Given the description of an element on the screen output the (x, y) to click on. 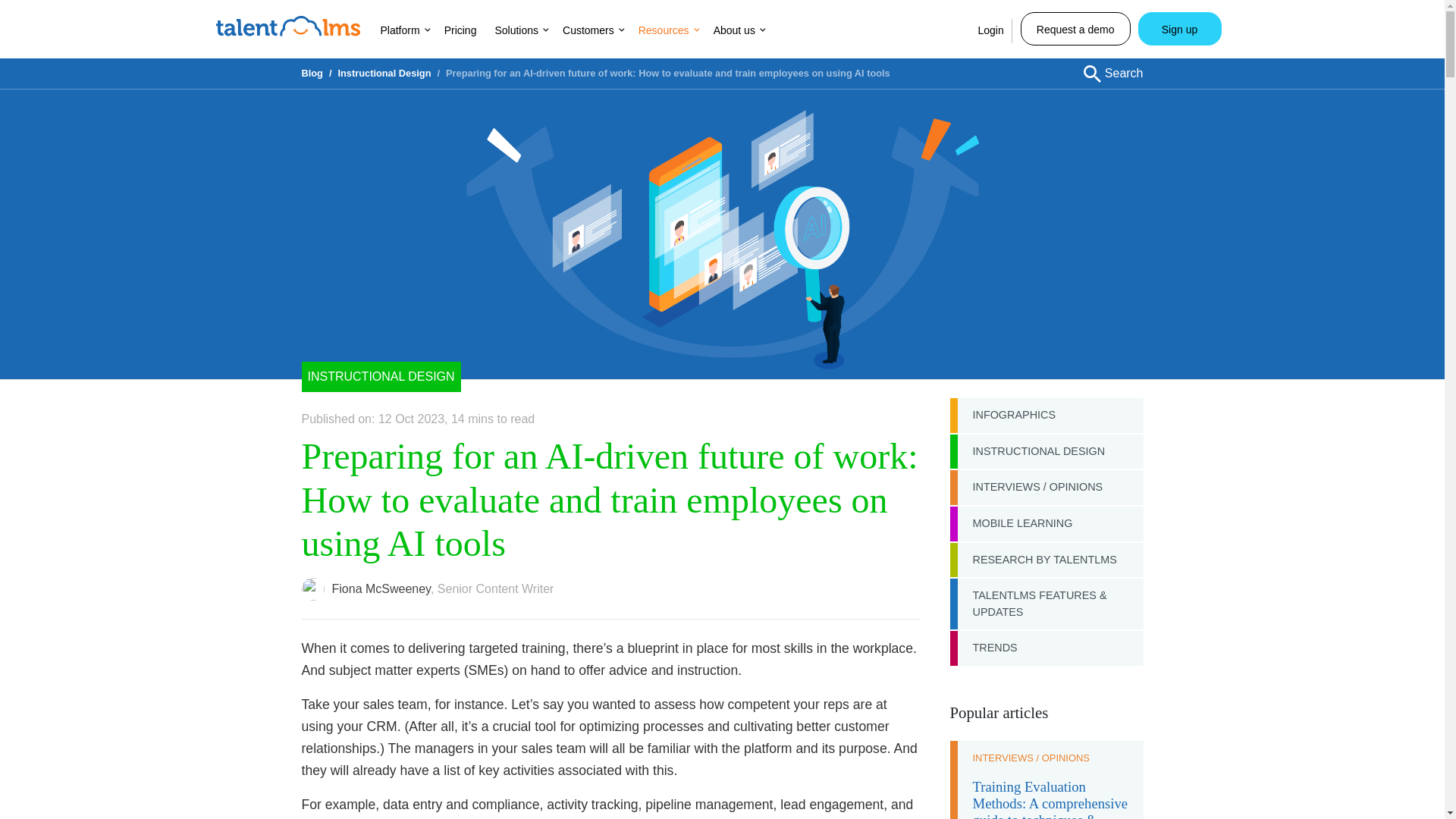
TalentLMS (287, 25)
Mobile Learning in education and training    (1045, 523)
Trends (1045, 647)
Instructional design guides and best practices    (383, 72)
Posts by Fiona McSweeney (380, 588)
Instructional design guides and best practices    (381, 376)
Instructional design guides and best practices    (1045, 451)
Pricing (460, 30)
Top eLearning and LMS Infographics    (1045, 415)
